Given the description of an element on the screen output the (x, y) to click on. 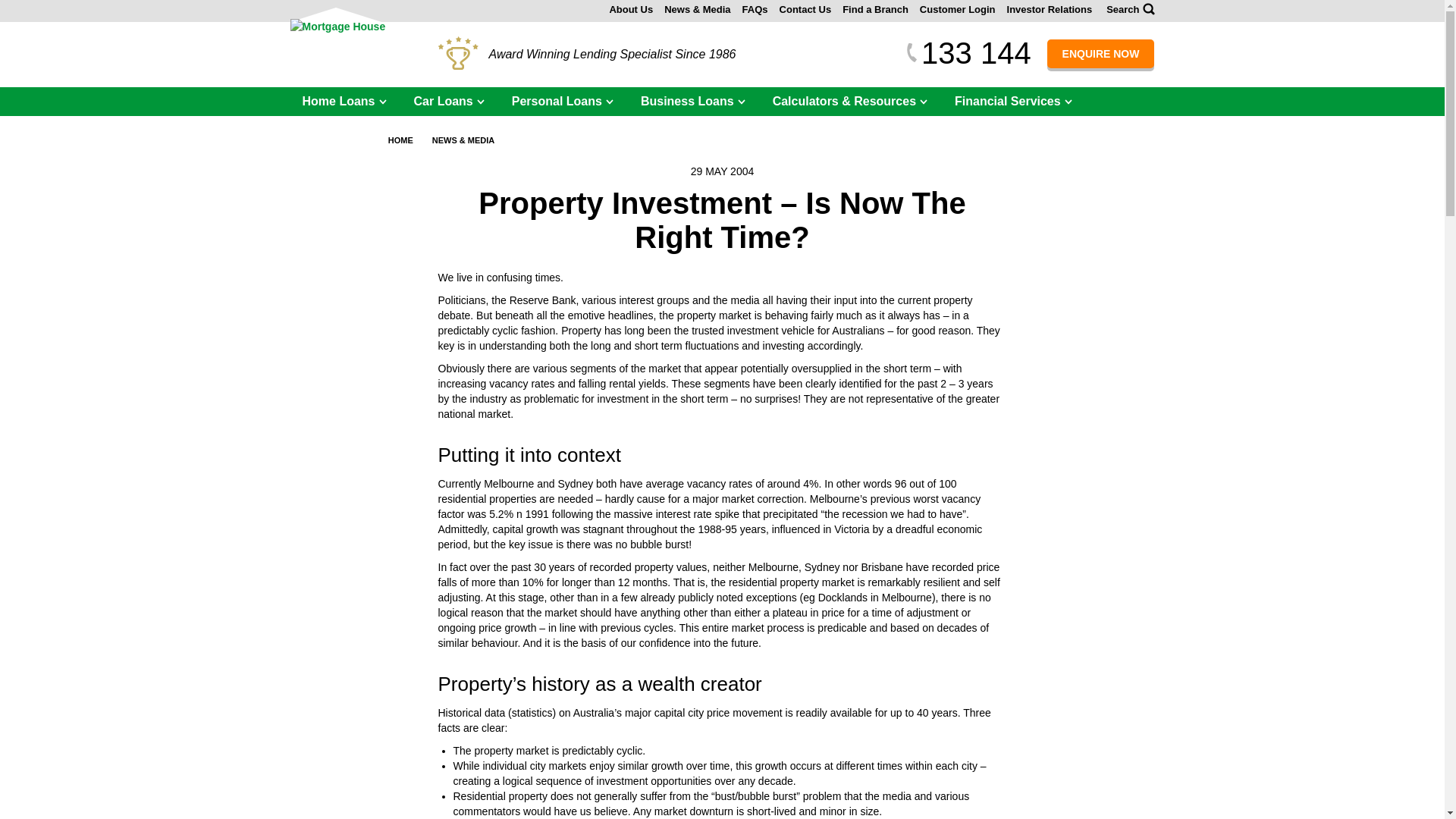
ENQUIRE NOW (1100, 53)
Contact Us (804, 9)
Find a Branch (875, 9)
Customer Login (957, 9)
FAQs (755, 9)
About Us (630, 9)
Home Loans (344, 101)
Investor Relations (1050, 9)
